Given the description of an element on the screen output the (x, y) to click on. 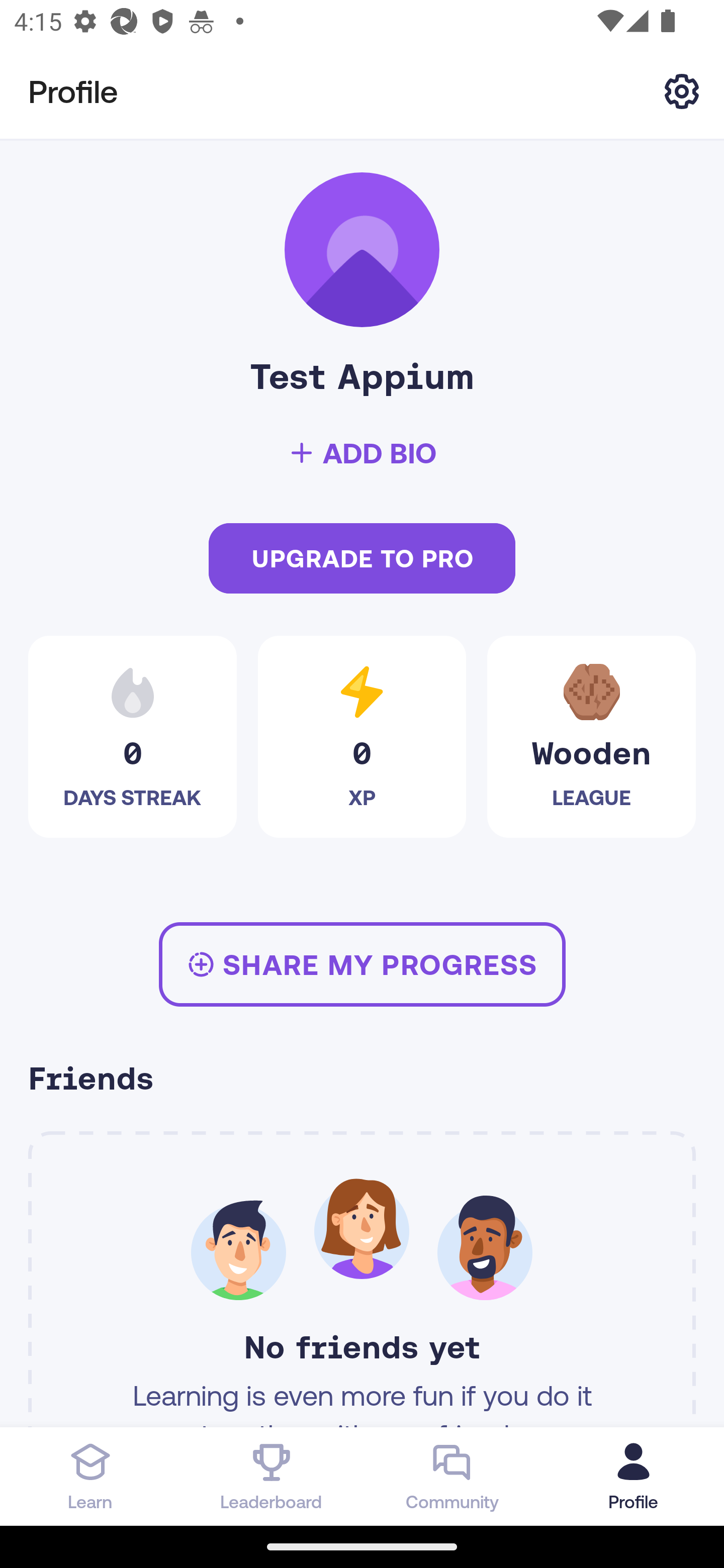
Settings (681, 90)
ADD BIO (361, 452)
UPGRADE TO PRO (361, 558)
SHARE MY PROGRESS (361, 963)
Friends (362, 1081)
Learn (90, 1475)
Leaderboard (271, 1475)
Community (452, 1475)
